Given the description of an element on the screen output the (x, y) to click on. 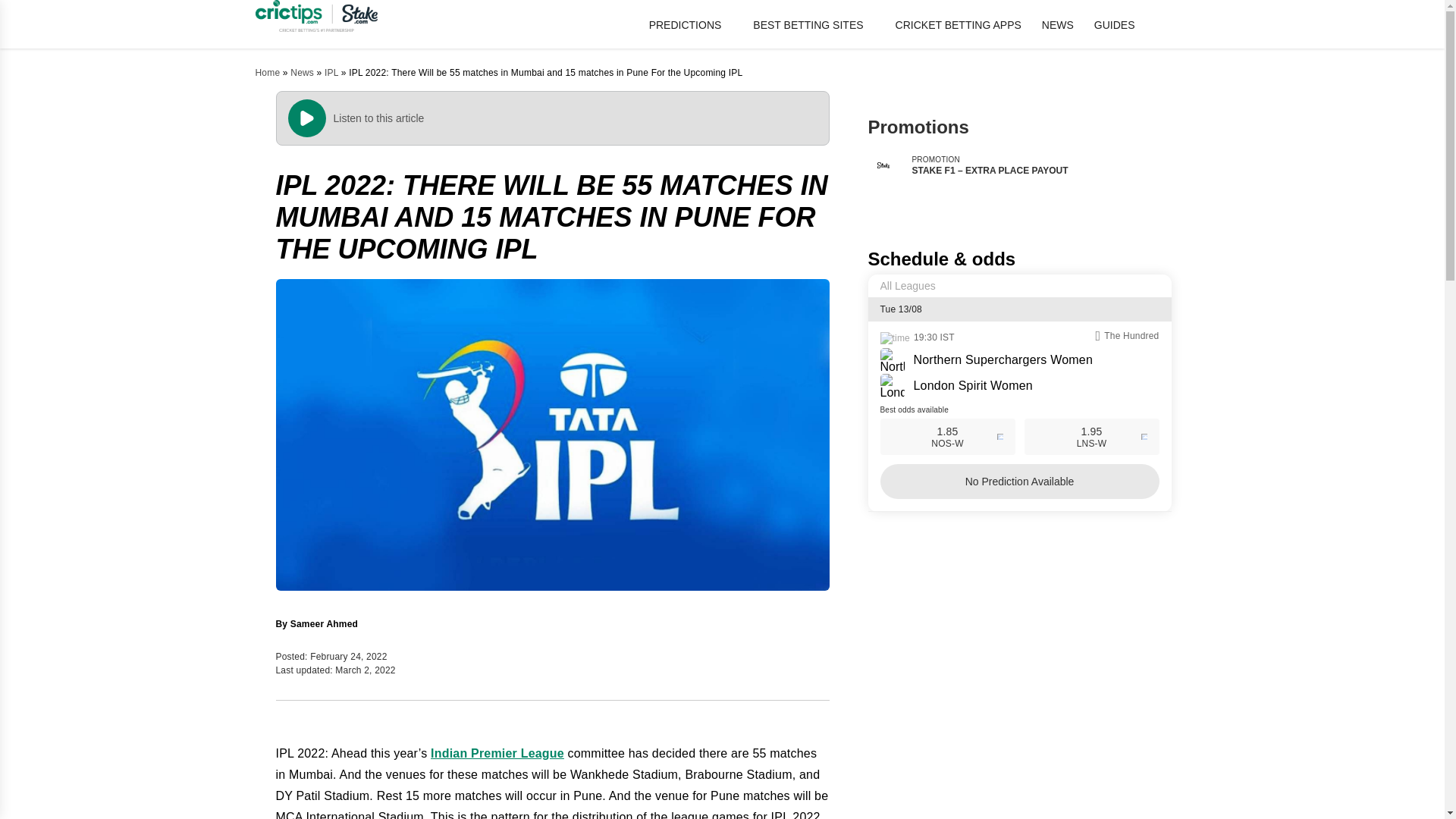
Sameer Ahmed (323, 623)
BEST BETTING SITES (813, 24)
PREDICTIONS (691, 24)
Indian Premier League (497, 753)
Play (307, 118)
IPL (330, 72)
NEWS (1058, 24)
Home (266, 72)
News (301, 72)
CRICKET BETTING APPS (958, 24)
